Given the description of an element on the screen output the (x, y) to click on. 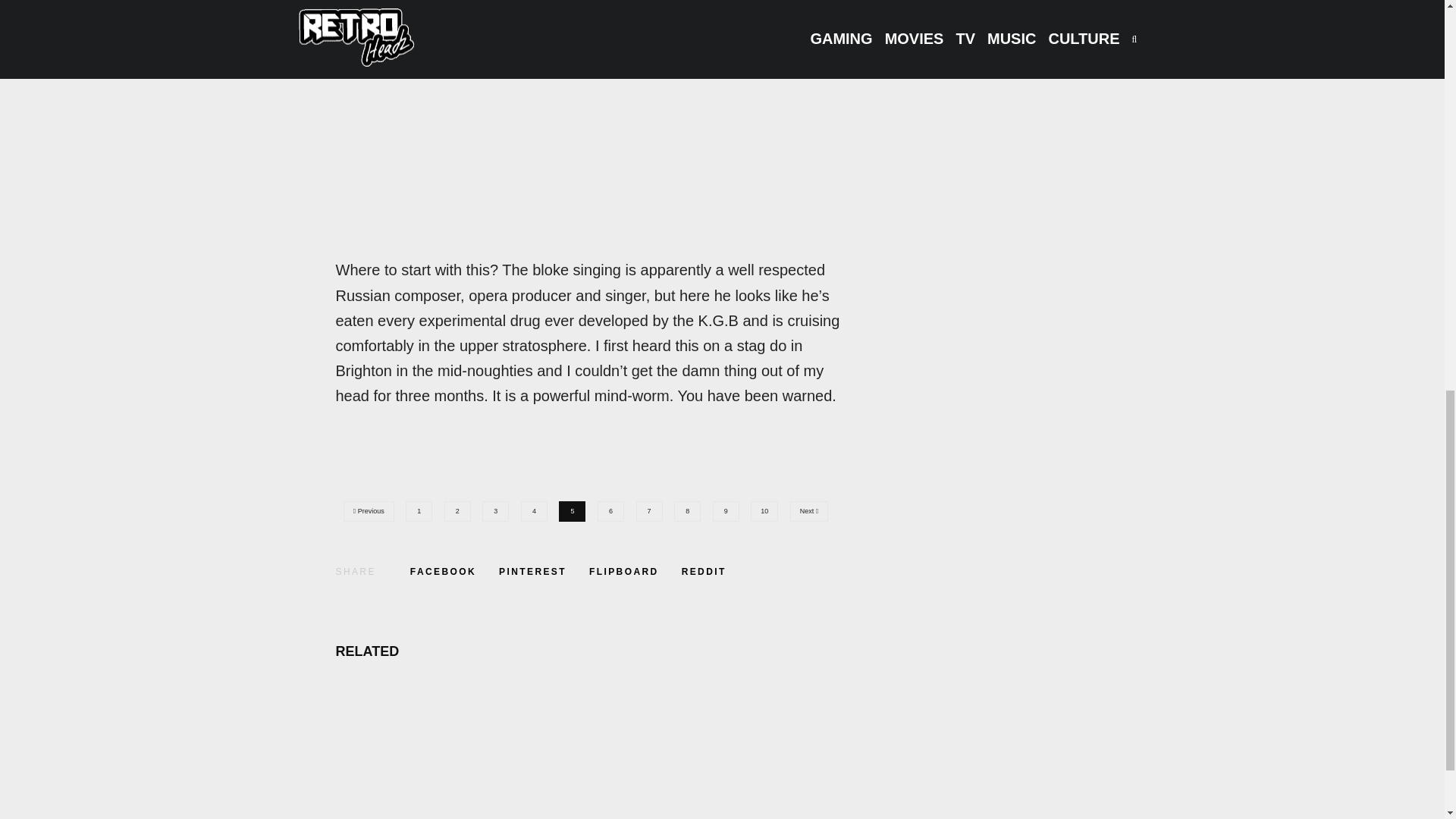
FACEBOOK (443, 571)
8 (690, 507)
PINTEREST (532, 571)
6 (613, 507)
10 (768, 507)
9 (729, 507)
4 (537, 507)
2 (461, 507)
3 (498, 507)
7 (652, 507)
